Given the description of an element on the screen output the (x, y) to click on. 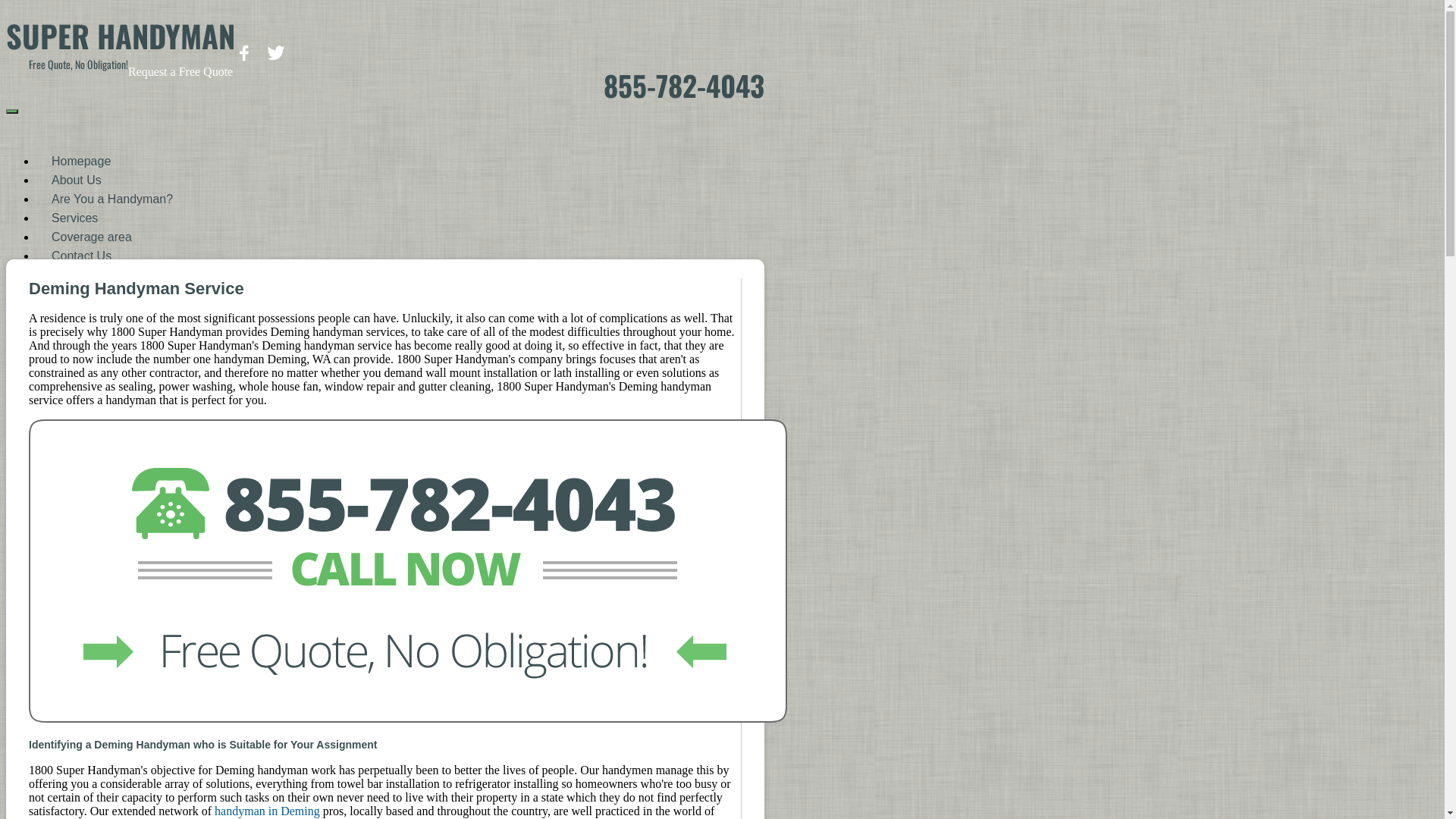
Contact Us Element type: text (81, 257)
Are You a Handyman? Element type: text (112, 200)
Request a Free Quote Element type: text (180, 71)
About Us Element type: text (76, 181)
Like Element type: hover (247, 52)
Services Element type: text (74, 219)
Coverage area Element type: text (91, 238)
handyman in Deming Element type: text (267, 810)
Homepage Element type: text (80, 162)
Like Element type: hover (279, 52)
